Given the description of an element on the screen output the (x, y) to click on. 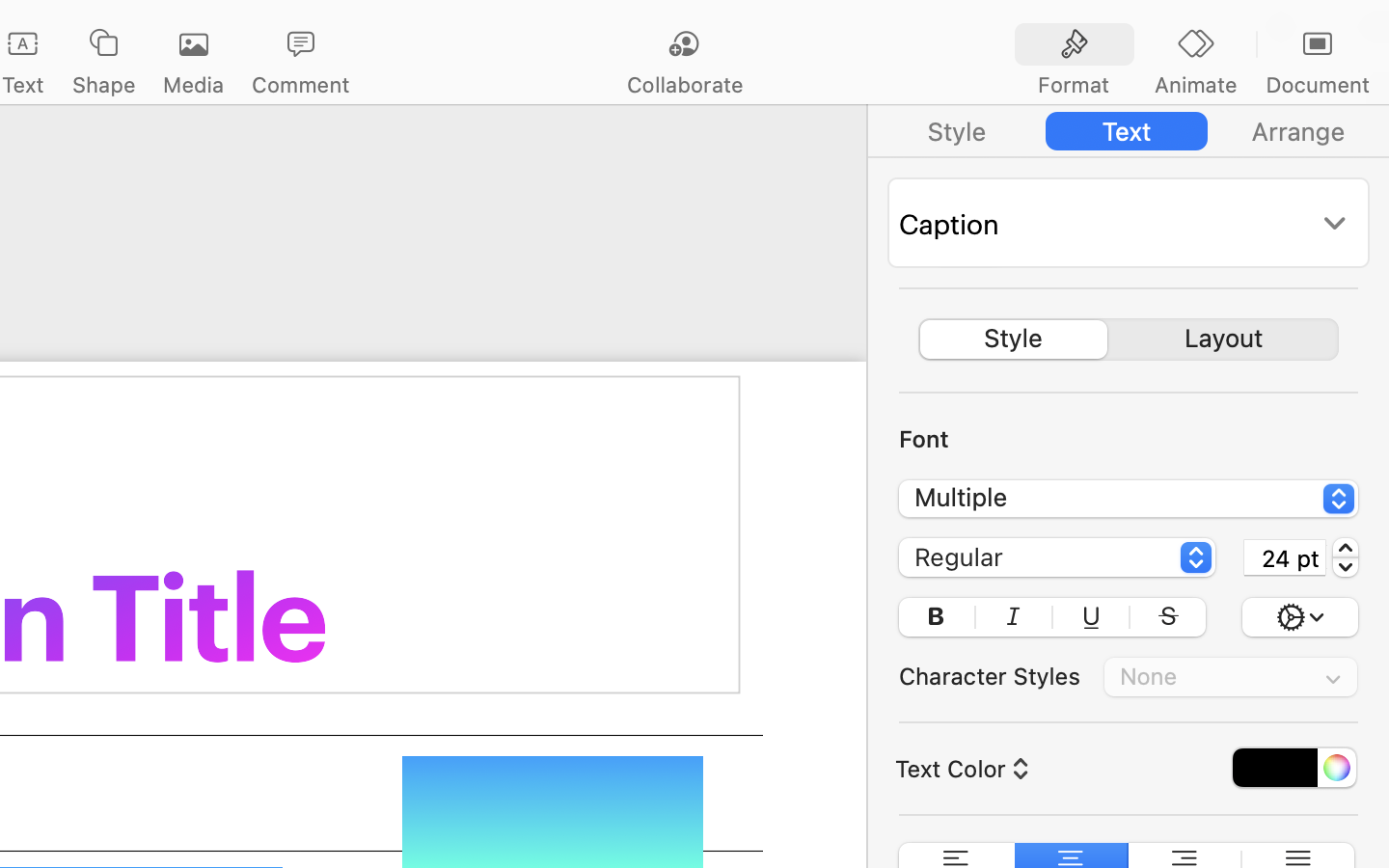
Media Element type: AXStaticText (192, 84)
Font Element type: AXStaticText (924, 438)
24.0 Element type: AXIncrementor (1345, 557)
Document Element type: AXStaticText (1316, 84)
<AXUIElement 0x2ac5a2480> {pid=1697} Element type: AXRadioGroup (1128, 339)
